Given the description of an element on the screen output the (x, y) to click on. 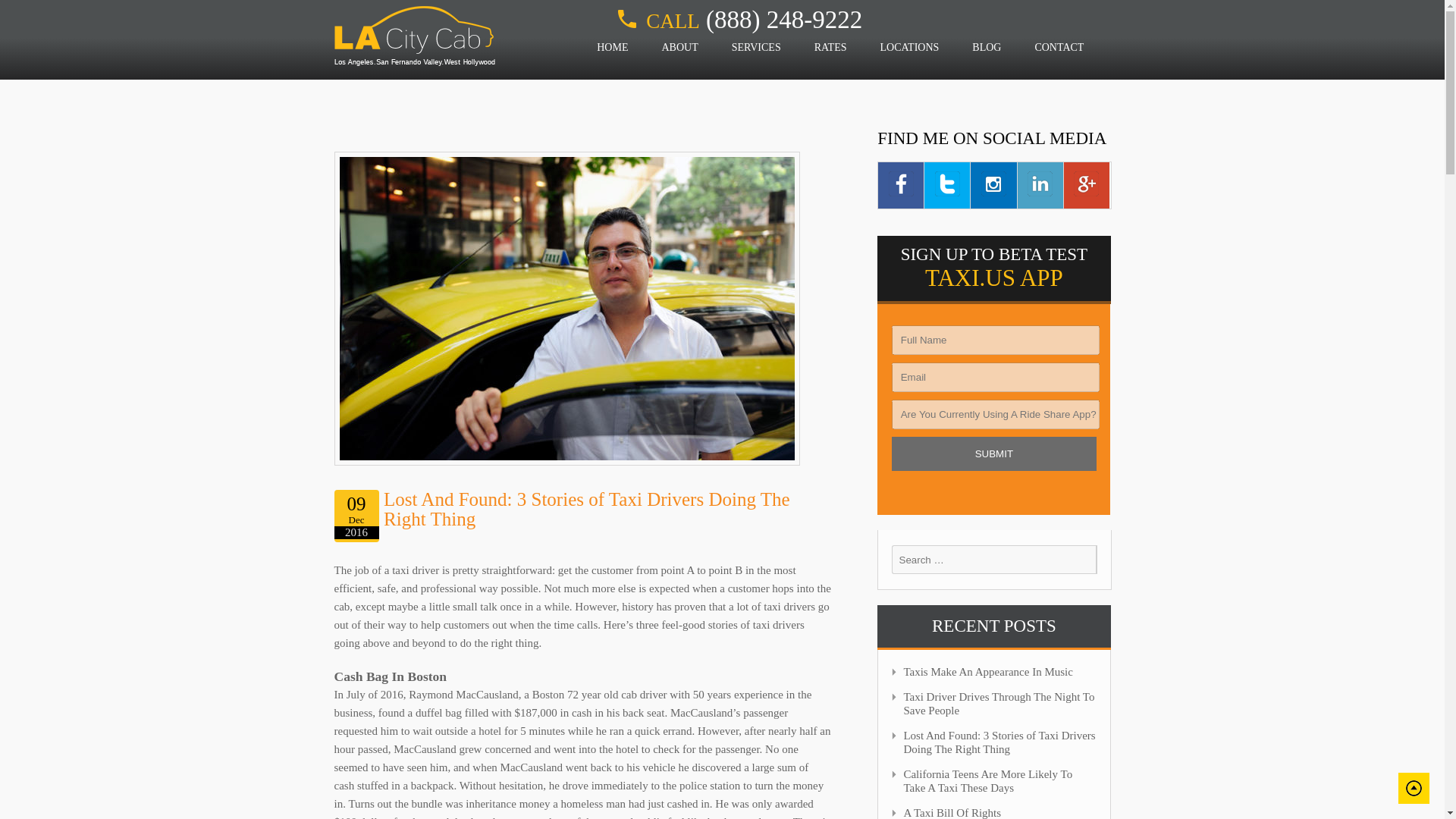
A Taxi Bill Of Rights (951, 812)
RATES (830, 47)
LOCATIONS (909, 47)
CONTACT (1058, 47)
SERVICES (756, 47)
Taxi Driver Drives Through The Night To Save People (998, 703)
ABOUT (679, 47)
HOME (611, 47)
Submit (993, 453)
California Teens Are More Likely To Take A Taxi These Days (986, 780)
Taxis Make An Appearance In Music (986, 671)
BLOG (986, 47)
